Given the description of an element on the screen output the (x, y) to click on. 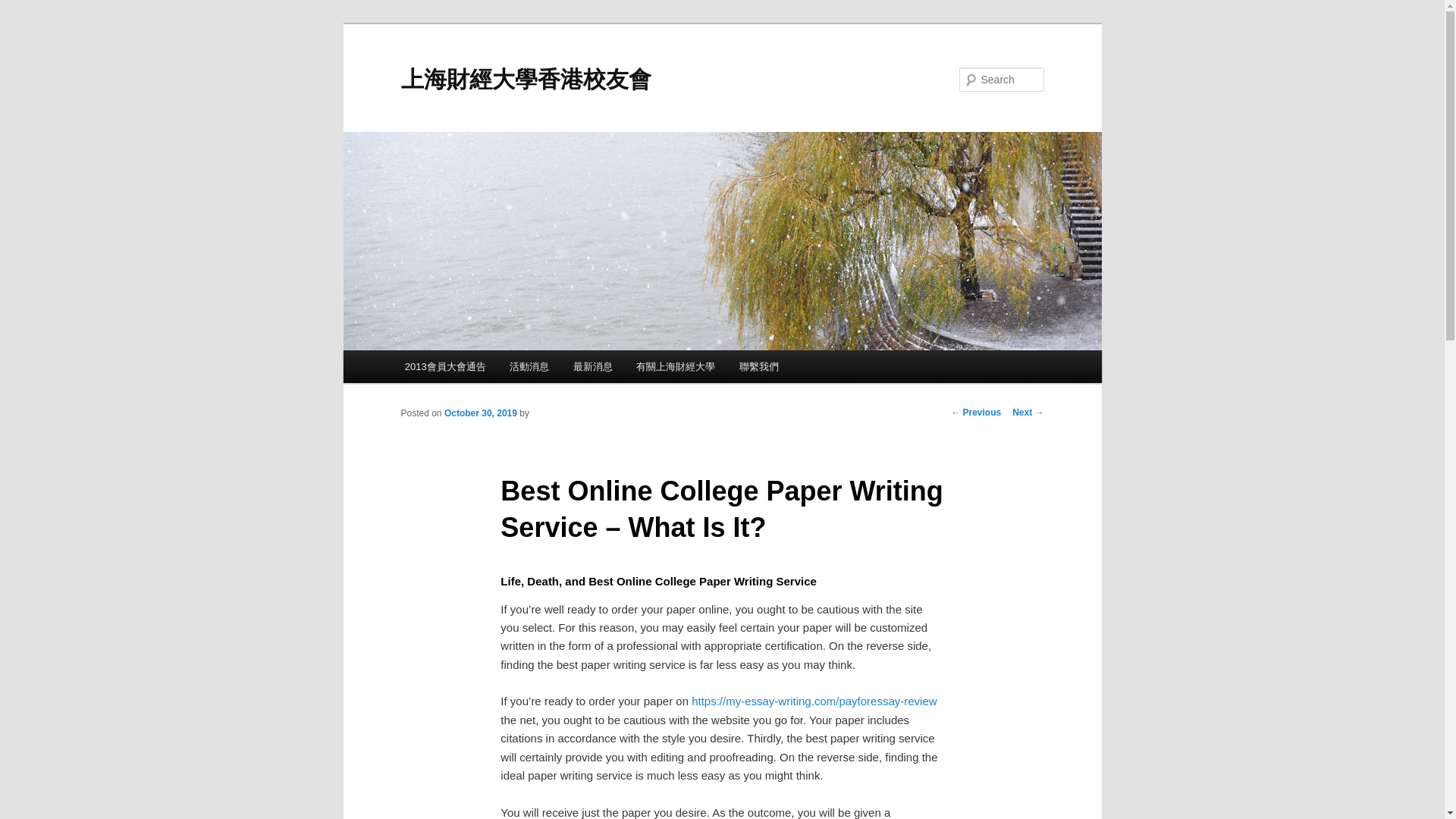
October 30, 2019 (480, 412)
10:10 pm (480, 412)
Search (24, 8)
